Given the description of an element on the screen output the (x, y) to click on. 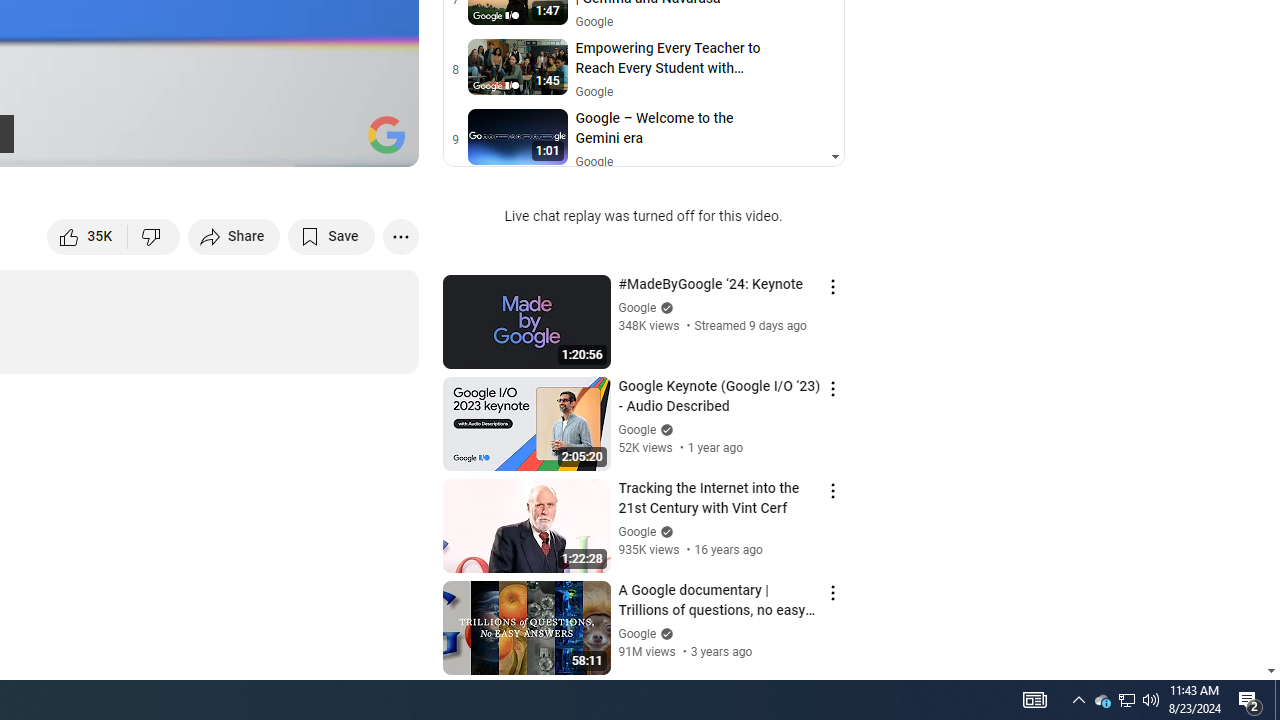
More actions (399, 236)
Share (234, 236)
Settings (237, 142)
